Given the description of an element on the screen output the (x, y) to click on. 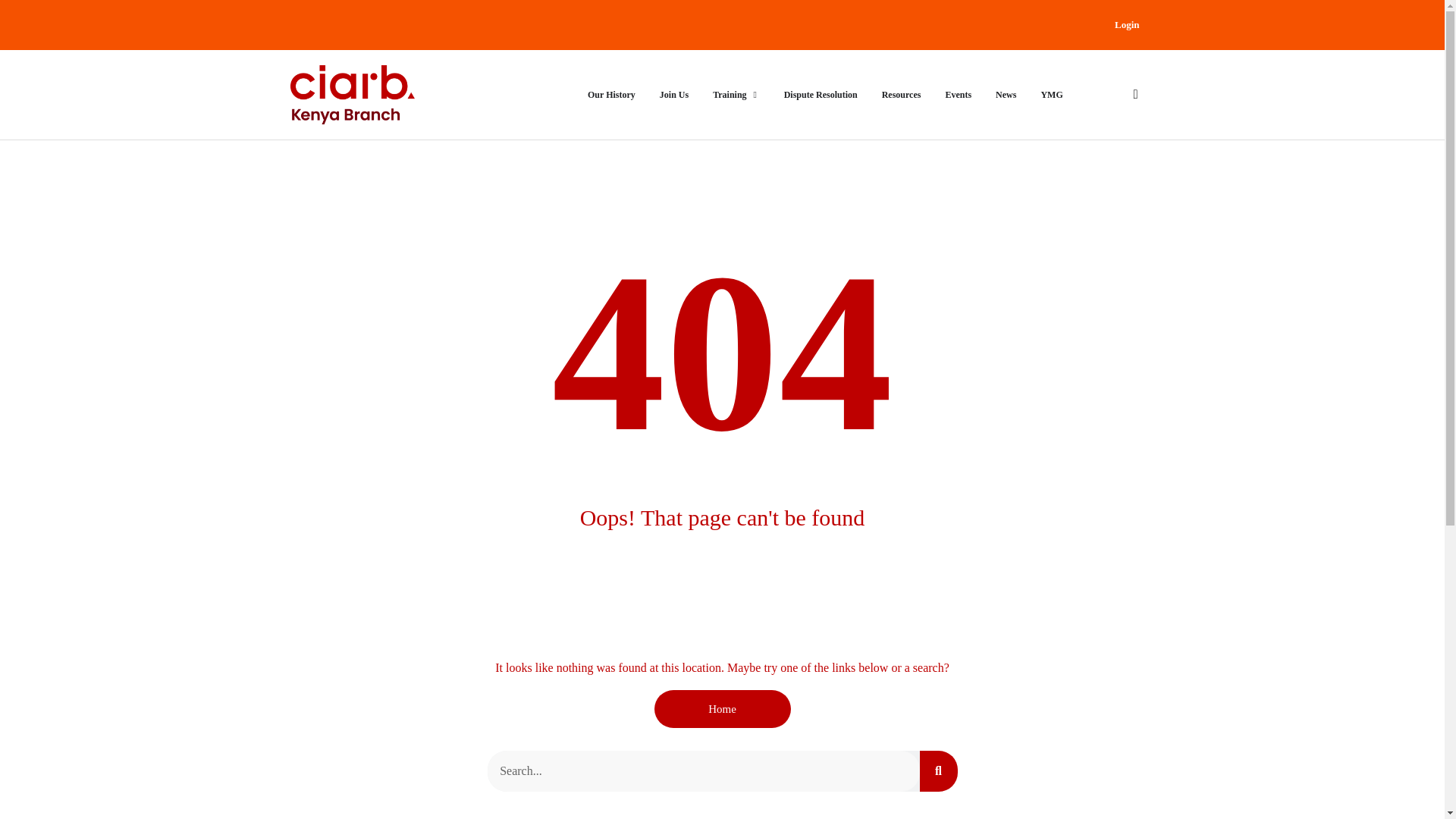
Our History (611, 94)
YMG (1051, 94)
Training (729, 94)
Dispute Resolution (820, 94)
Home (721, 709)
Events (957, 94)
Login (1126, 24)
Resources (901, 94)
Join Us (673, 94)
News (1005, 94)
